Given the description of an element on the screen output the (x, y) to click on. 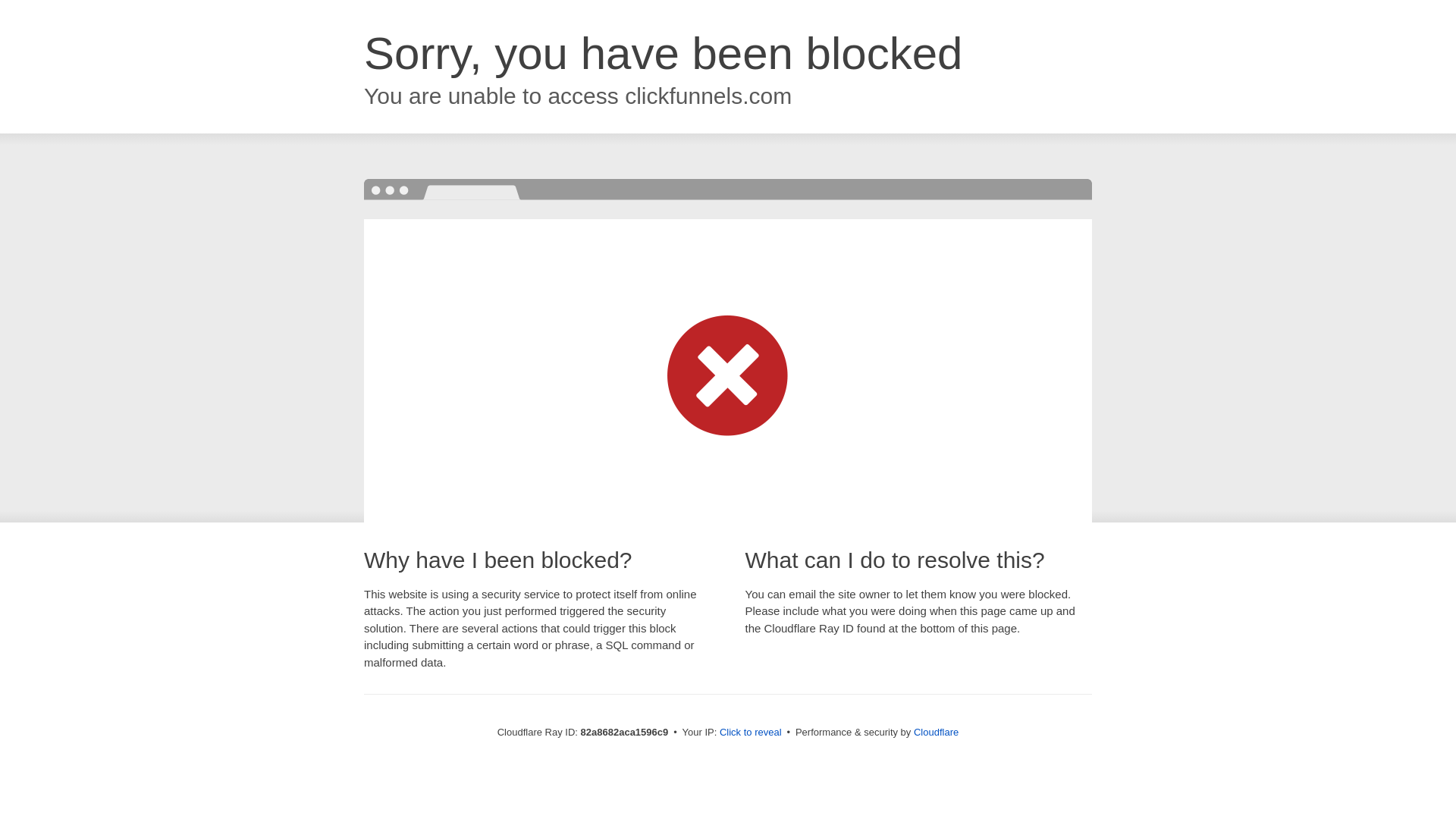
Cloudflare Element type: text (935, 731)
Click to reveal Element type: text (750, 732)
